Given the description of an element on the screen output the (x, y) to click on. 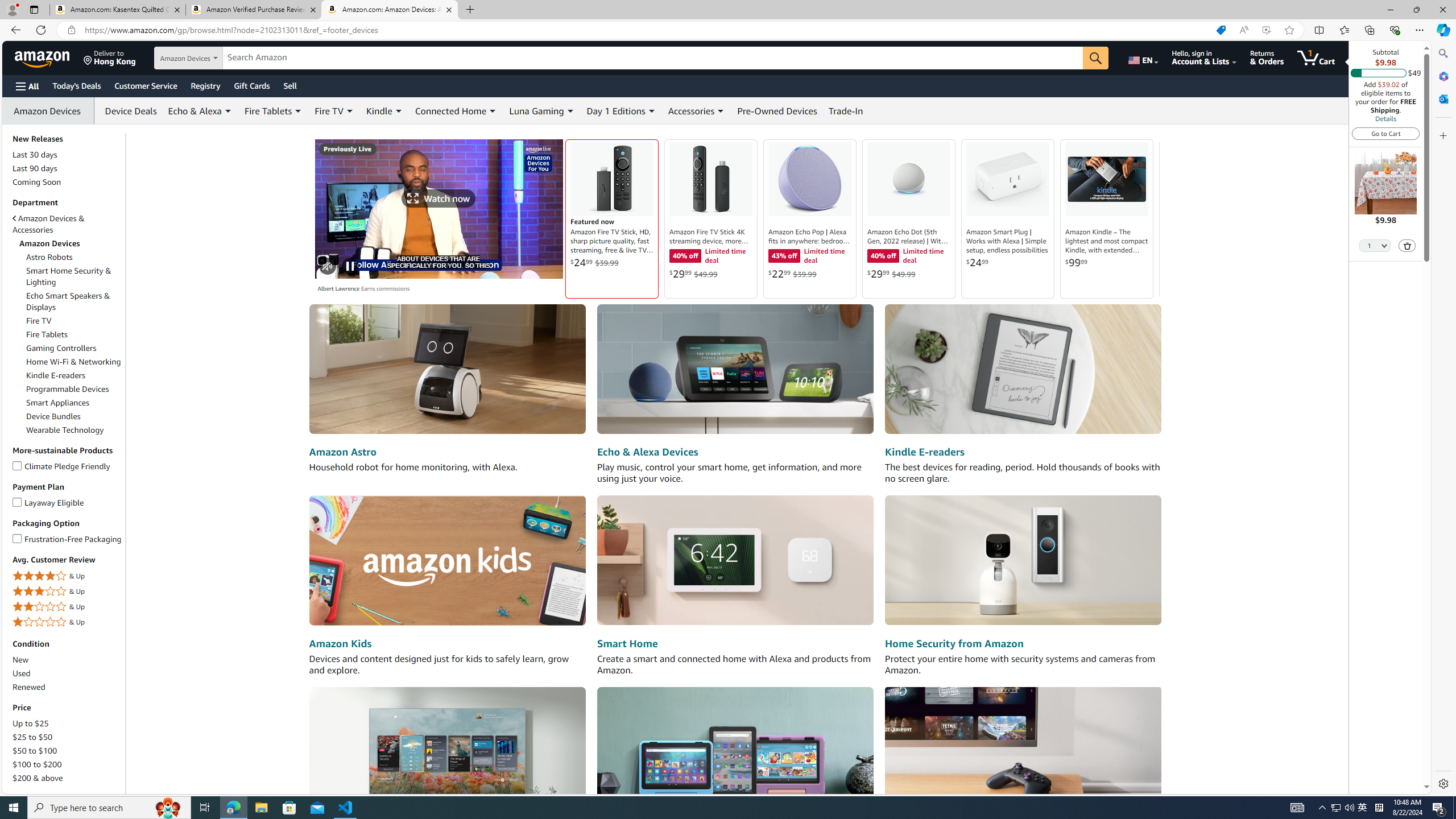
Go to Cart (1385, 133)
Expand Echo & Alexa (227, 111)
Trade-In (845, 110)
Registry (205, 85)
Pause (349, 265)
Fire Tablet devices (734, 751)
2 Stars & Up (67, 606)
Kindle E-readers (74, 374)
2 Stars & Up& Up (67, 606)
